Given the description of an element on the screen output the (x, y) to click on. 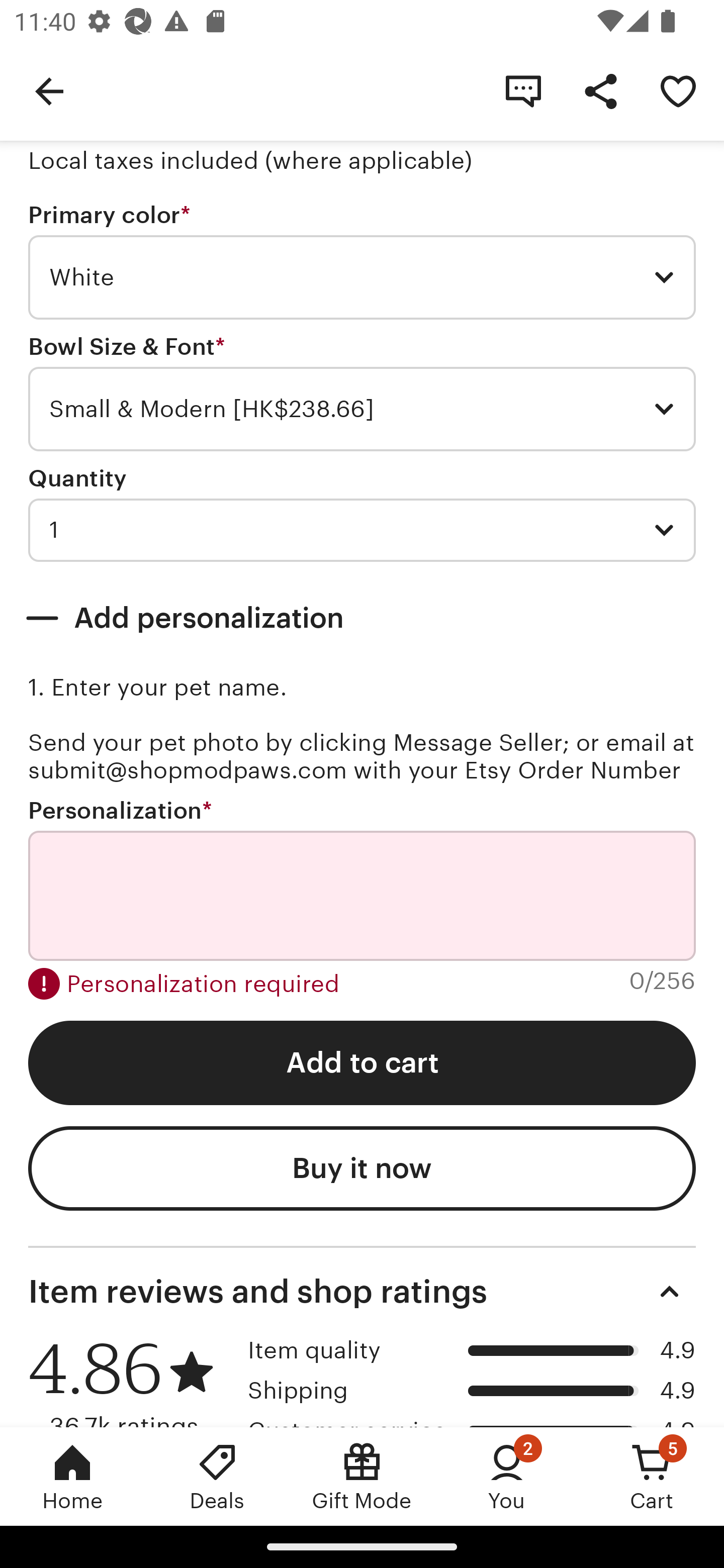
Navigate up (49, 90)
Contact shop (523, 90)
Share (600, 90)
Primary color * Required White (361, 260)
White (361, 277)
Small & Modern [HK$238.66] (361, 408)
Quantity (77, 477)
1 (361, 529)
Add personalization Add personalization Required (362, 617)
Add to cart (361, 1062)
Buy it now (361, 1167)
Item reviews and shop ratings (362, 1291)
Deals (216, 1475)
Gift Mode (361, 1475)
You, 2 new notifications You (506, 1475)
Cart, 5 new notifications Cart (651, 1475)
